Given the description of an element on the screen output the (x, y) to click on. 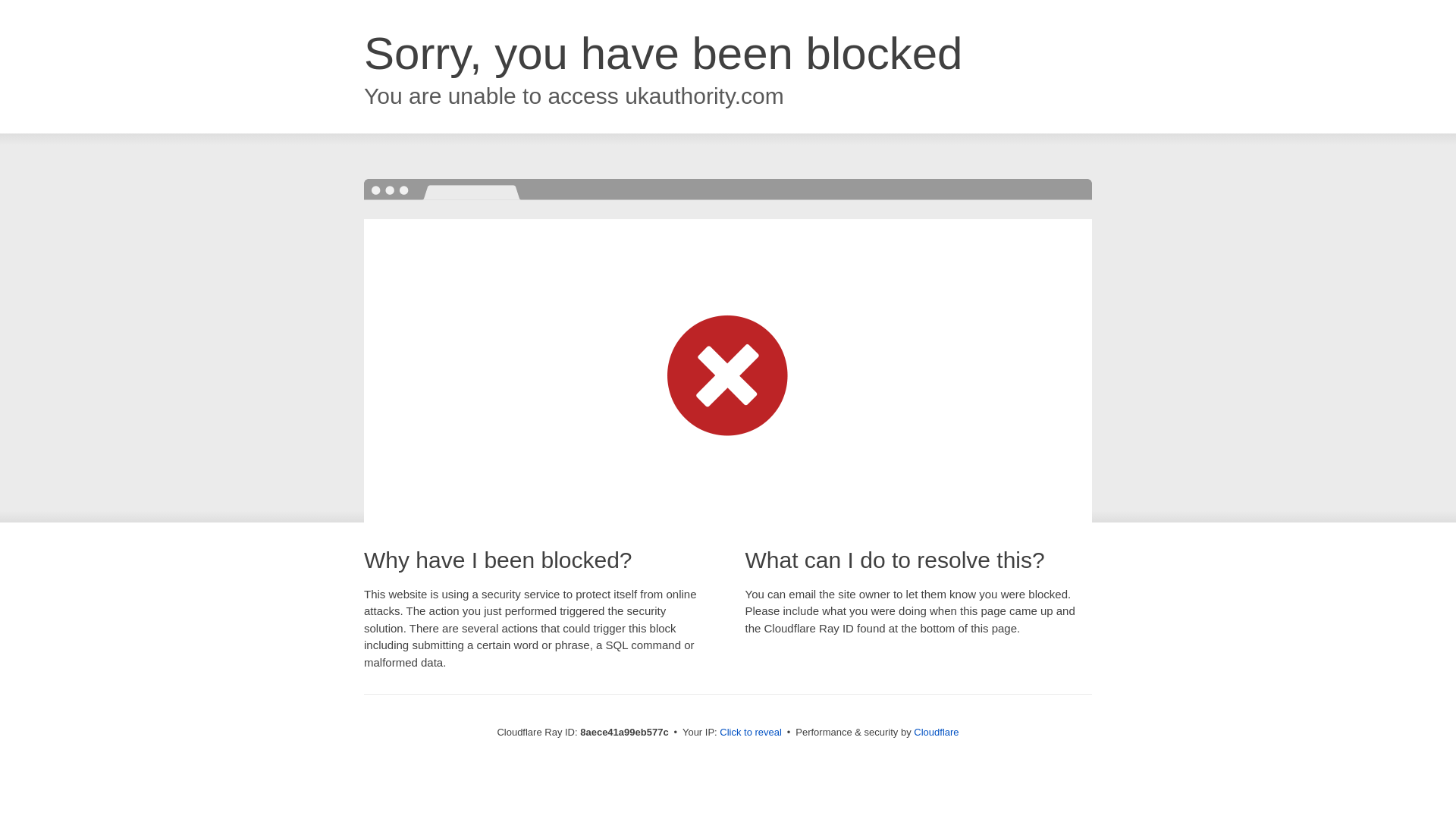
Click to reveal (750, 732)
Cloudflare (936, 731)
